Given the description of an element on the screen output the (x, y) to click on. 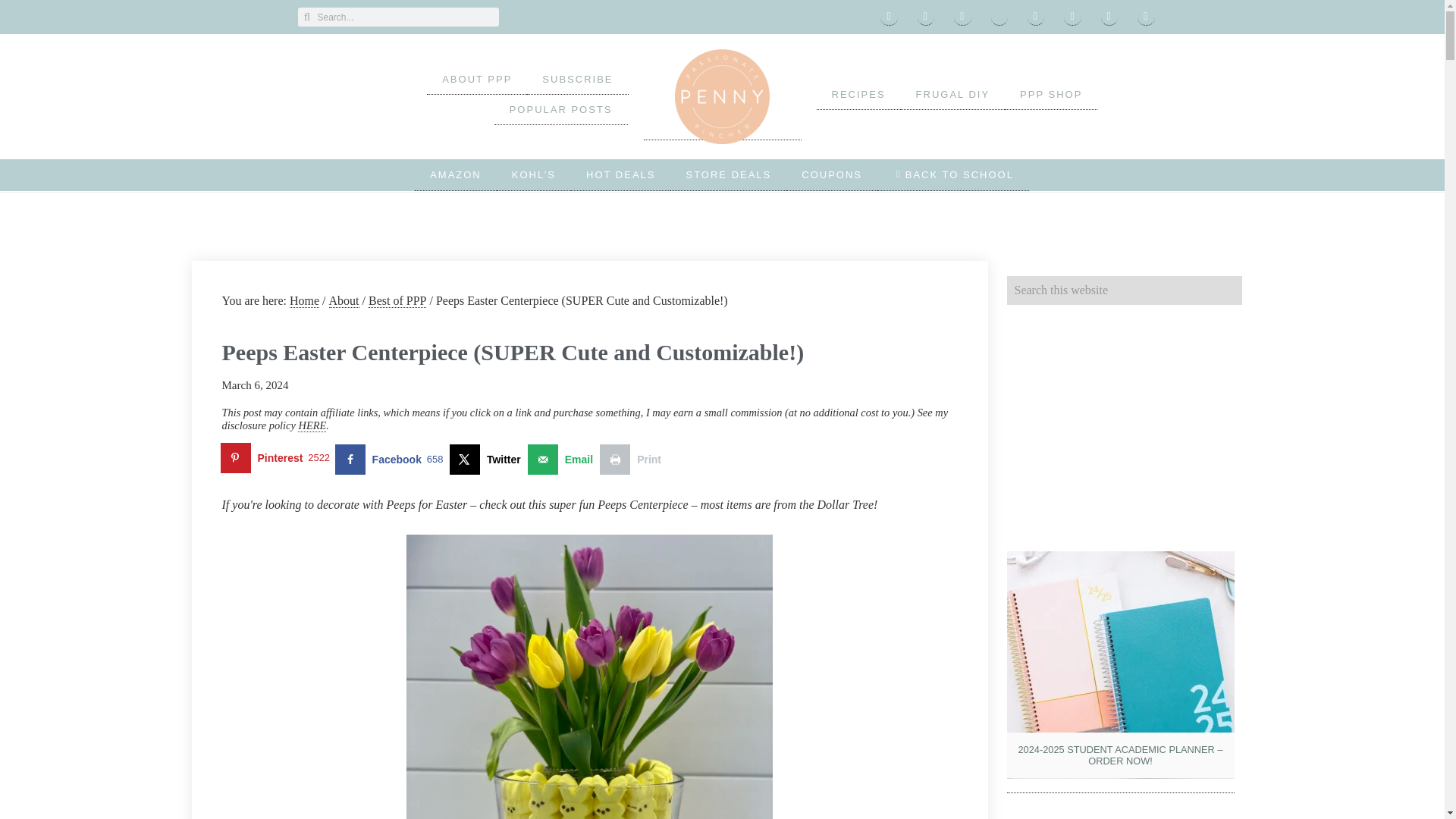
PPP SHOP (1050, 94)
AMAZON (455, 174)
FRUGAL DIY (953, 94)
Save to Pinterest (277, 459)
ABOUT PPP (476, 79)
Send over email (563, 459)
Share on X (488, 459)
RECIPES (857, 94)
POPULAR POSTS (561, 110)
Share on Facebook (391, 459)
Print this webpage (633, 459)
SUBSCRIBE (577, 79)
